Given the description of an element on the screen output the (x, y) to click on. 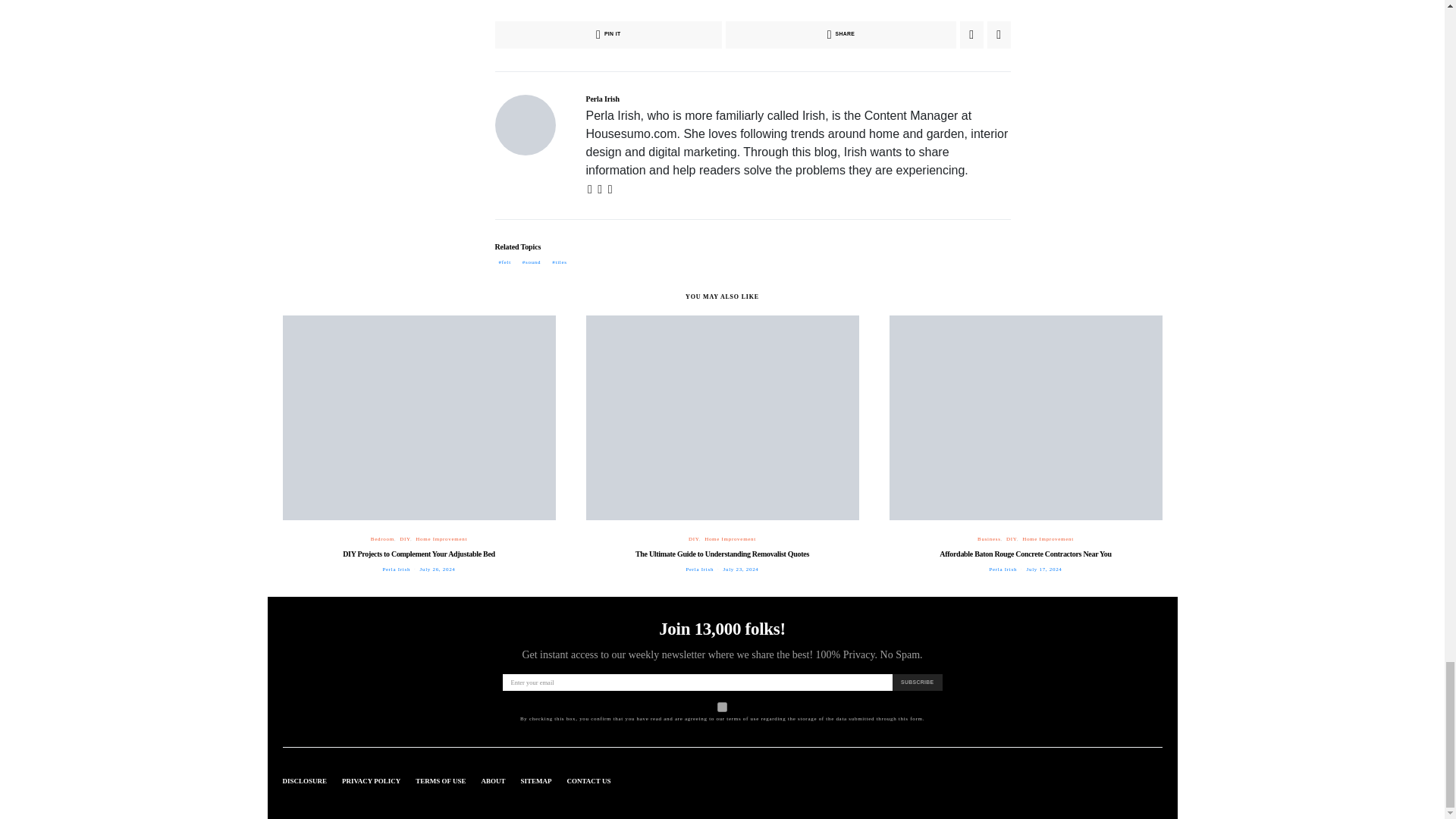
View all posts by Perla Irish (699, 569)
on (722, 706)
View all posts by Perla Irish (395, 569)
View all posts by Perla Irish (1002, 569)
